Given the description of an element on the screen output the (x, y) to click on. 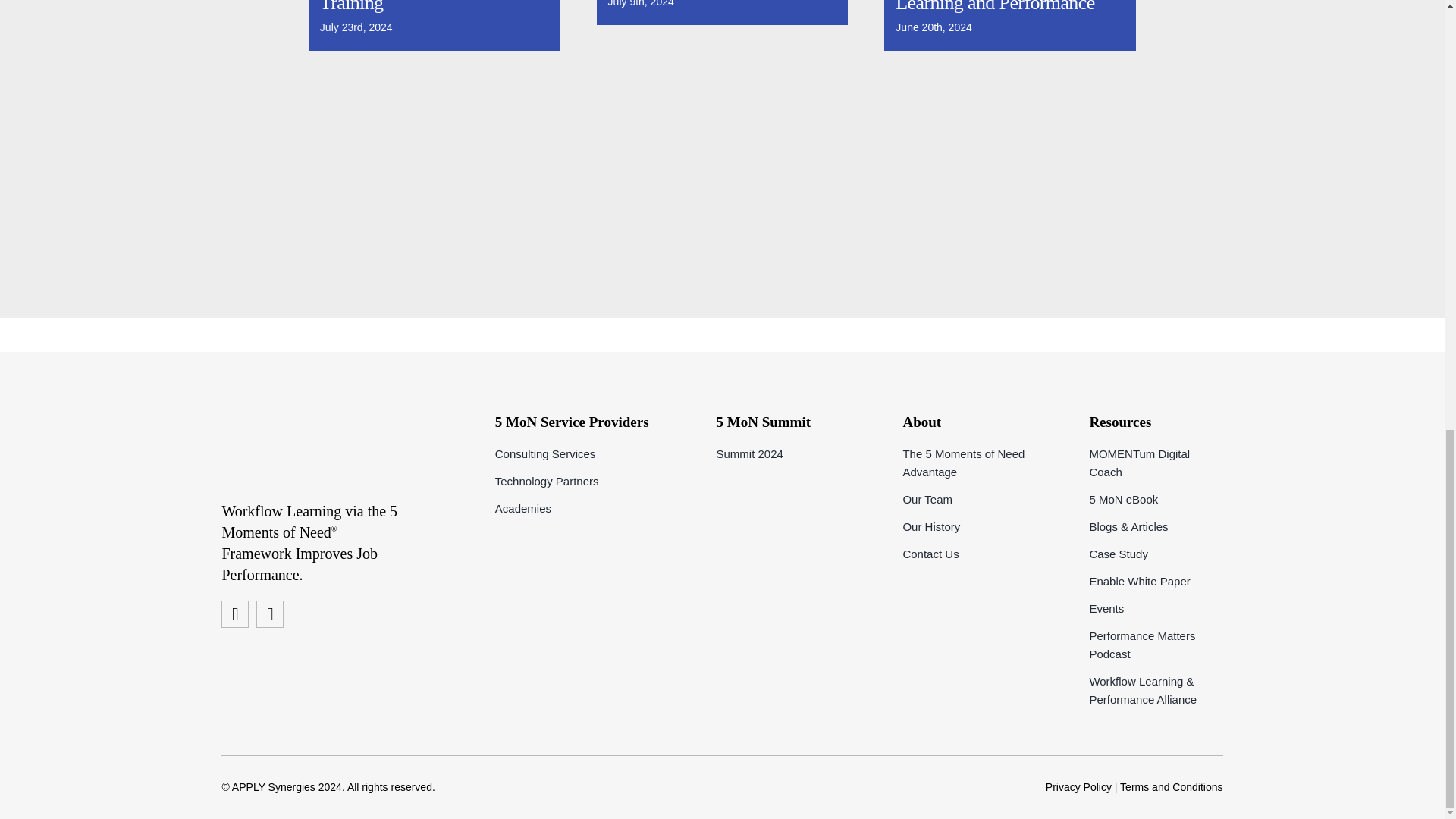
YouTube (234, 614)
LinkedIn (269, 614)
Performance Mindset: Transforming Traditional Training (414, 7)
